Given the description of an element on the screen output the (x, y) to click on. 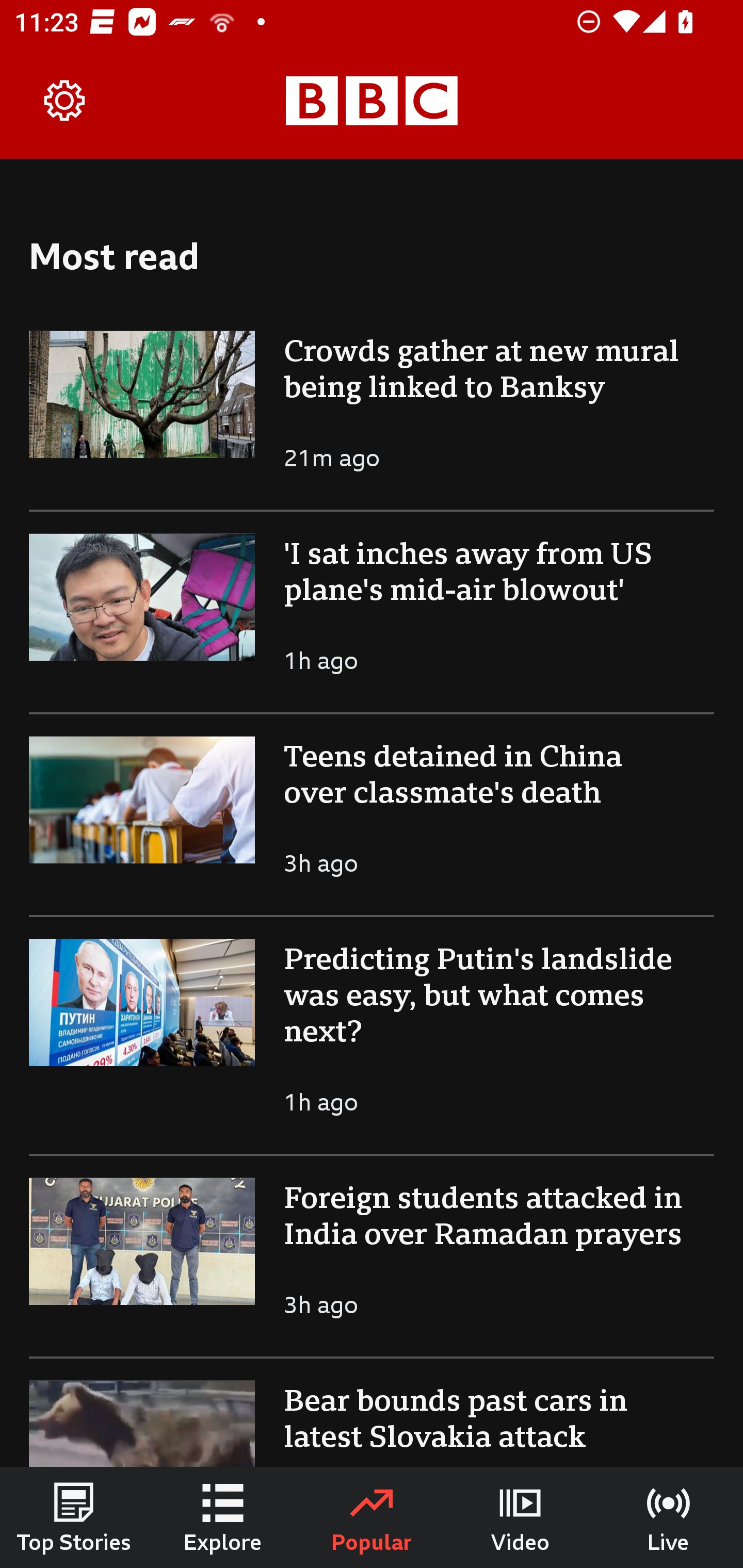
Settings (64, 100)
Top Stories (74, 1517)
Explore (222, 1517)
Video (519, 1517)
Live (668, 1517)
